Given the description of an element on the screen output the (x, y) to click on. 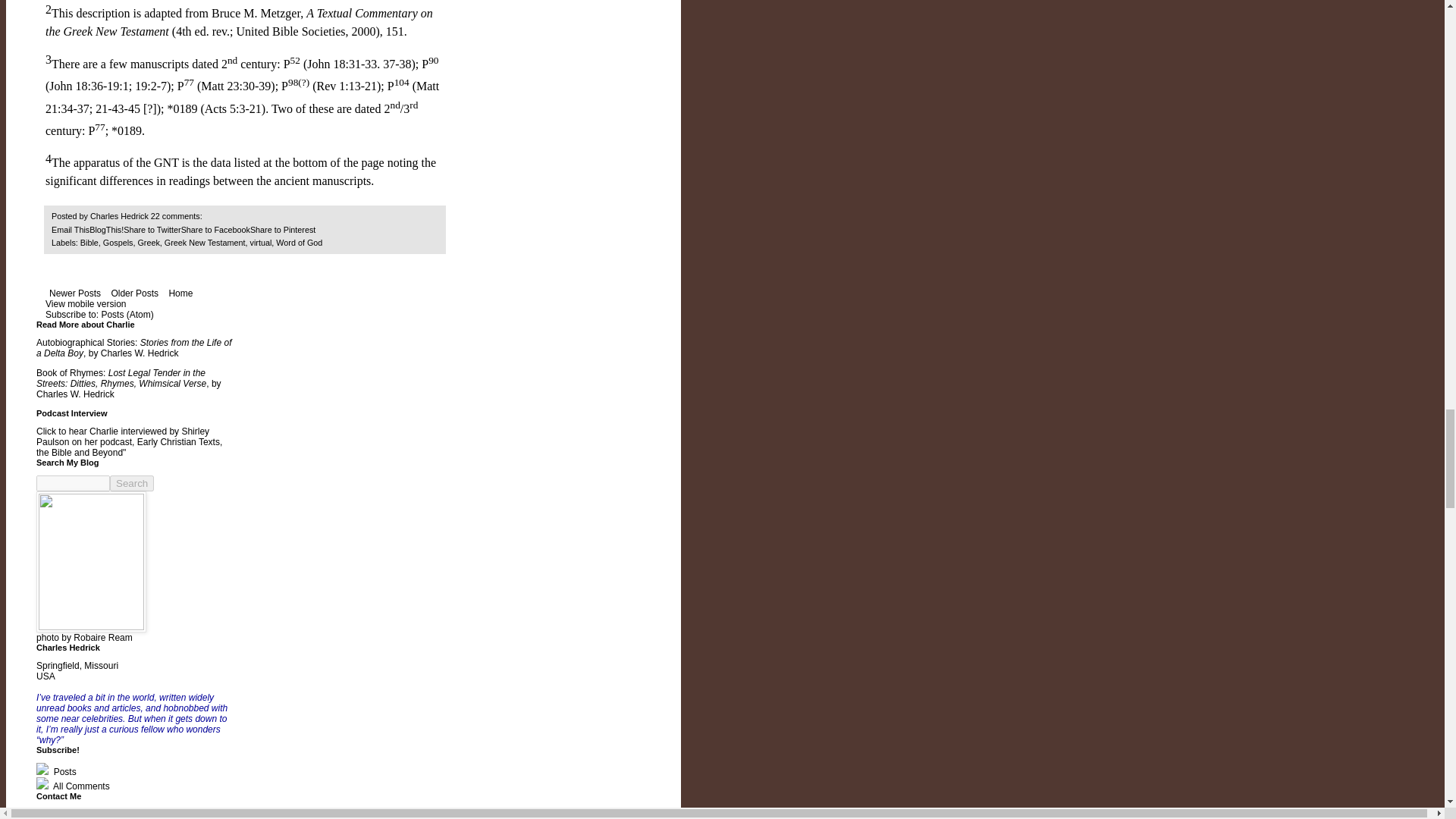
Share to Pinterest (282, 229)
Share to Facebook (215, 229)
search (73, 483)
Newer Posts (74, 293)
Greek New Testament (205, 242)
BlogThis! (105, 229)
BlogThis! (105, 229)
Bible (89, 242)
Email Post (211, 215)
Greek (147, 242)
Email This (69, 229)
Share to Facebook (215, 229)
Share to Pinterest (282, 229)
Gospels (118, 242)
Email This (69, 229)
